Given the description of an element on the screen output the (x, y) to click on. 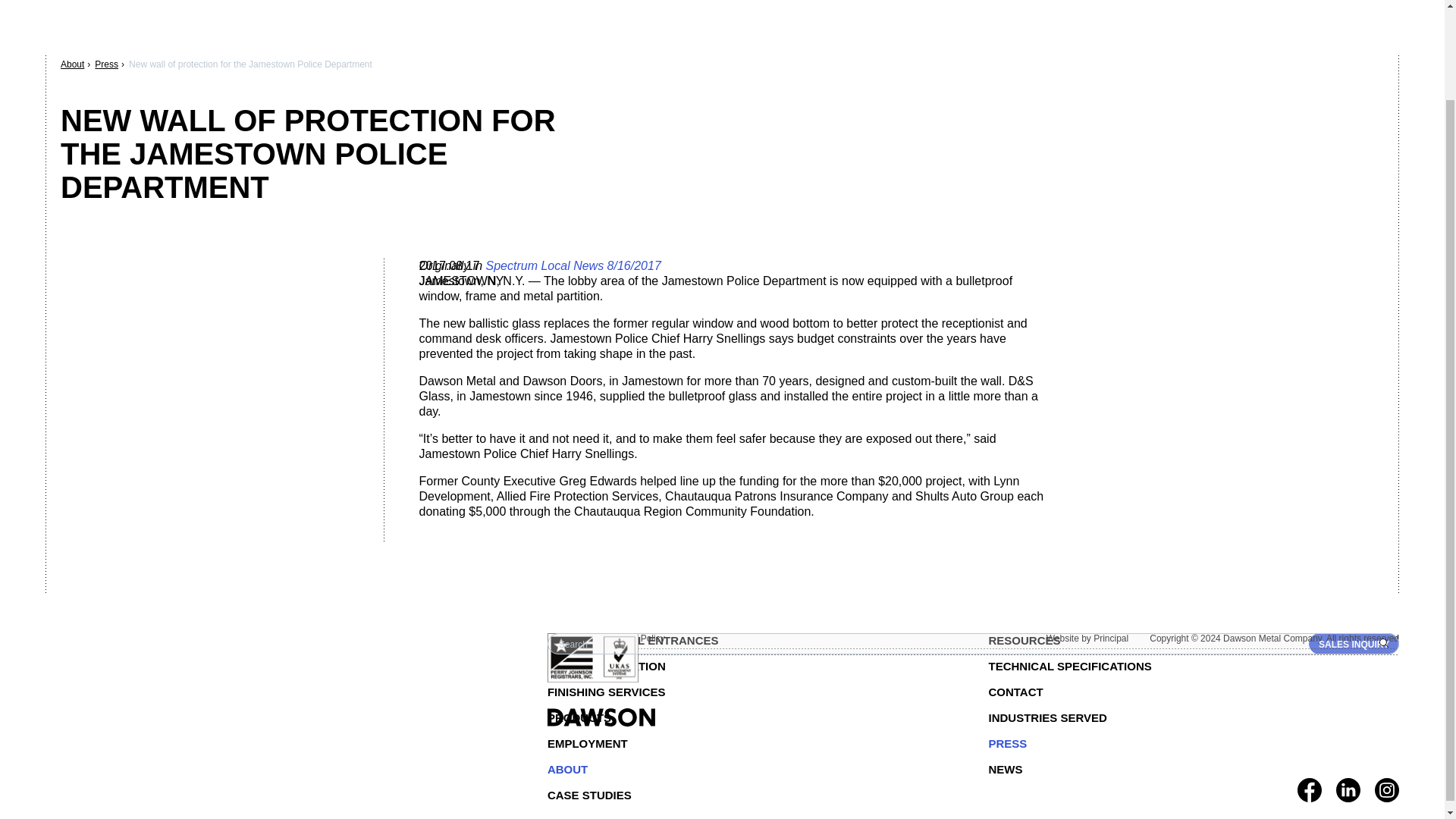
SALES INQUIRY (1353, 643)
ARCHITECTURAL ENTRANCES (752, 640)
Press (105, 63)
Perry Johnson Registrars, Inc. (593, 657)
About (72, 63)
